Given the description of an element on the screen output the (x, y) to click on. 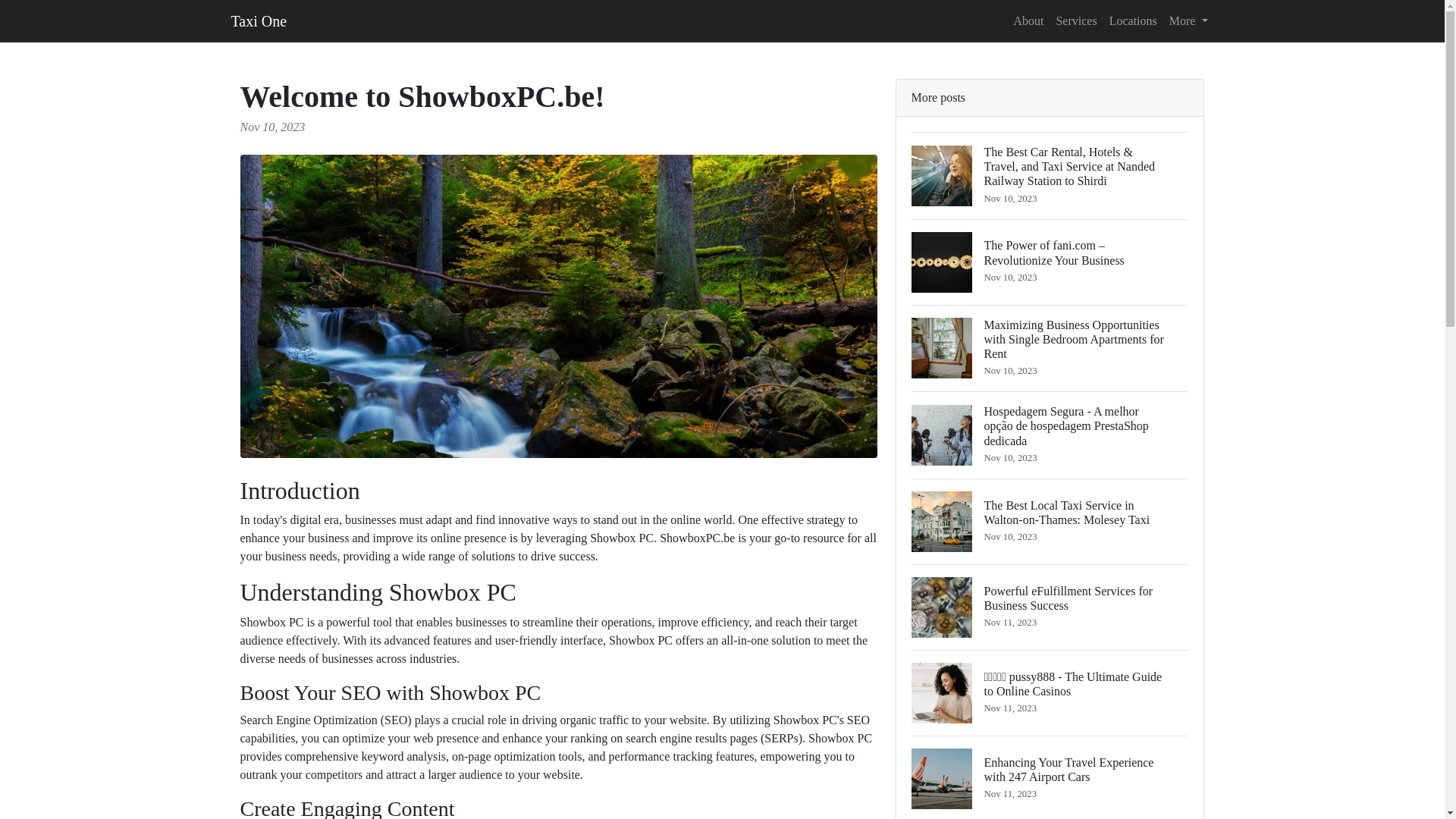
More (1188, 20)
Locations (1133, 20)
Taxi One (258, 20)
Services (1075, 20)
About (1028, 20)
ShowboxPC.be (697, 537)
